Given the description of an element on the screen output the (x, y) to click on. 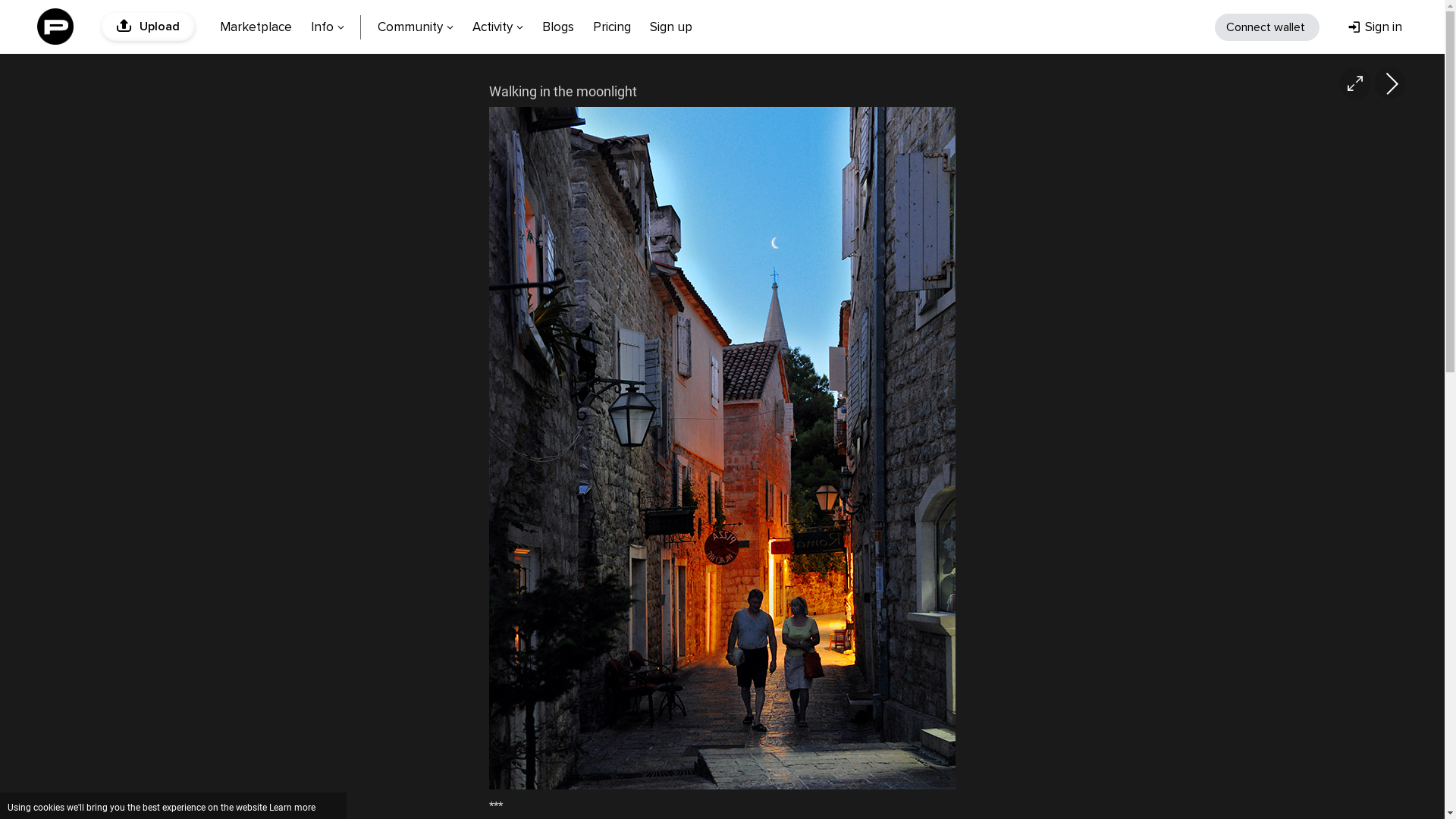
Pricing Element type: text (611, 25)
Sign up Element type: text (670, 25)
Marketplace Element type: text (255, 25)
Connect wallet Element type: text (1266, 26)
Next Element type: hover (1389, 83)
Blogs Element type: text (557, 25)
Close Element type: hover (330, 807)
Learn more Element type: text (292, 807)
